Given the description of an element on the screen output the (x, y) to click on. 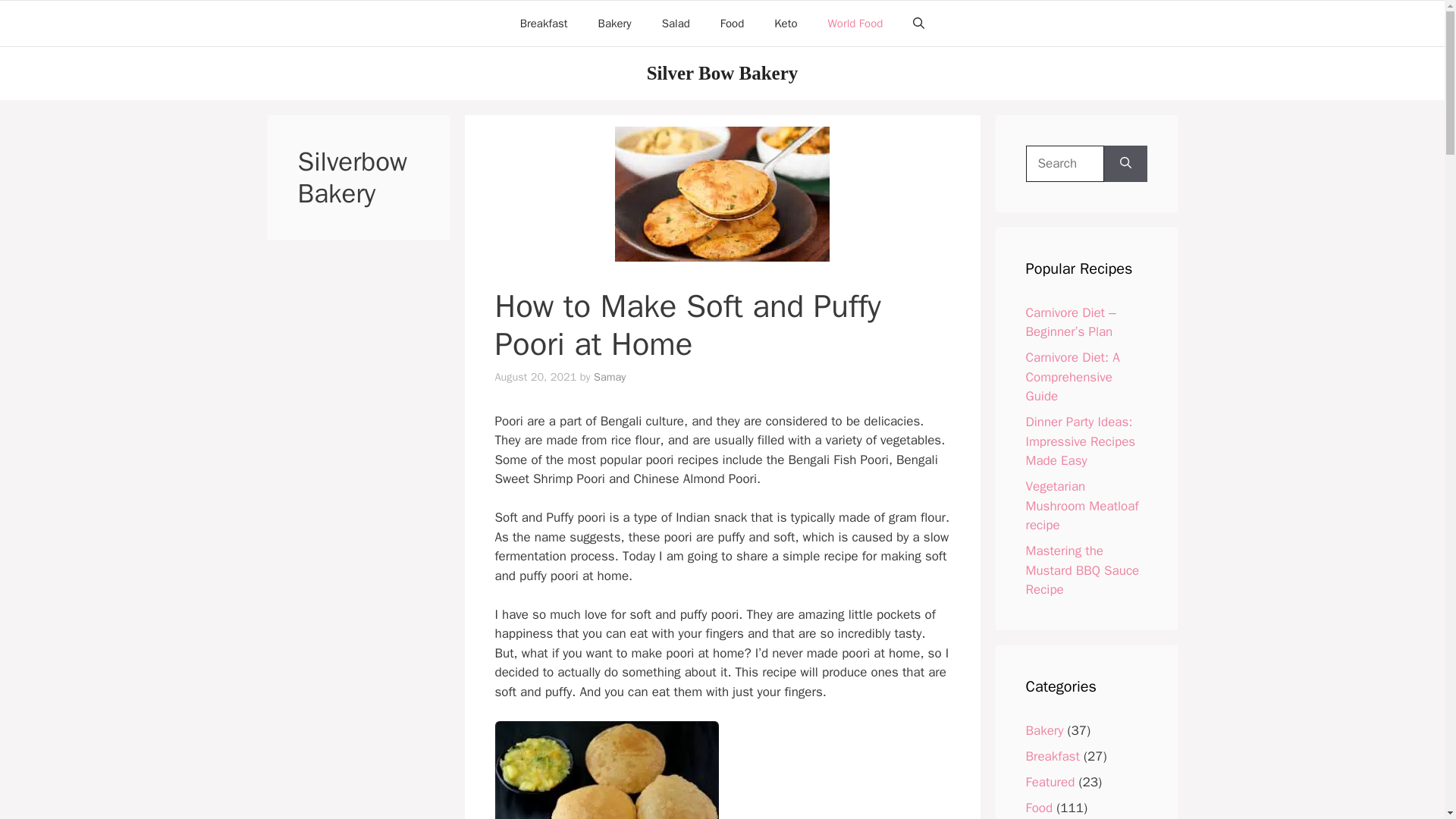
Salad (675, 22)
Bakery (1043, 729)
View all posts by Samay (610, 377)
Search for: (1064, 163)
World Food (855, 22)
Carnivore Diet: A Comprehensive Guide (1072, 376)
How to Make Soft and Puffy Poori at Home 2 (606, 770)
Mastering the Mustard BBQ Sauce Recipe (1081, 569)
How to Make Soft and Puffy Poori at Home 1 (721, 193)
Breakfast (544, 22)
